Given the description of an element on the screen output the (x, y) to click on. 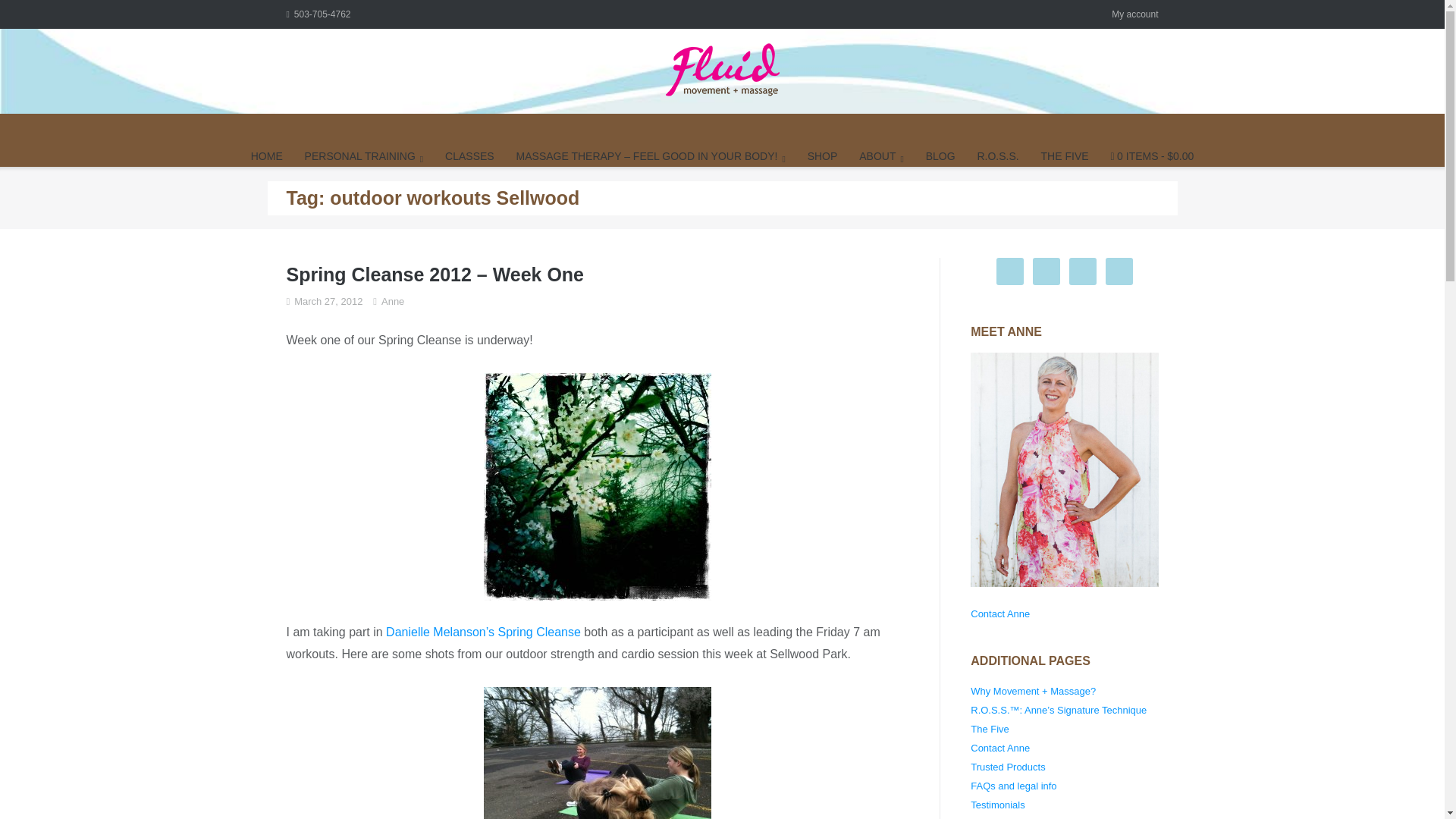
Contact Anne (1000, 613)
My account (1134, 14)
R.O.S.S. (996, 156)
BLOG (940, 156)
503-705-4762 (317, 14)
CLASSES (470, 156)
HOME (266, 156)
Spring Cleanse flowers 3.12 (597, 486)
Start shopping (1151, 156)
THE FIVE (1065, 156)
March 27, 2012 (328, 301)
Cleanse workout - boat 3.12 (597, 753)
SHOP (823, 156)
PERSONAL TRAINING (363, 156)
ABOUT (881, 156)
